Given the description of an element on the screen output the (x, y) to click on. 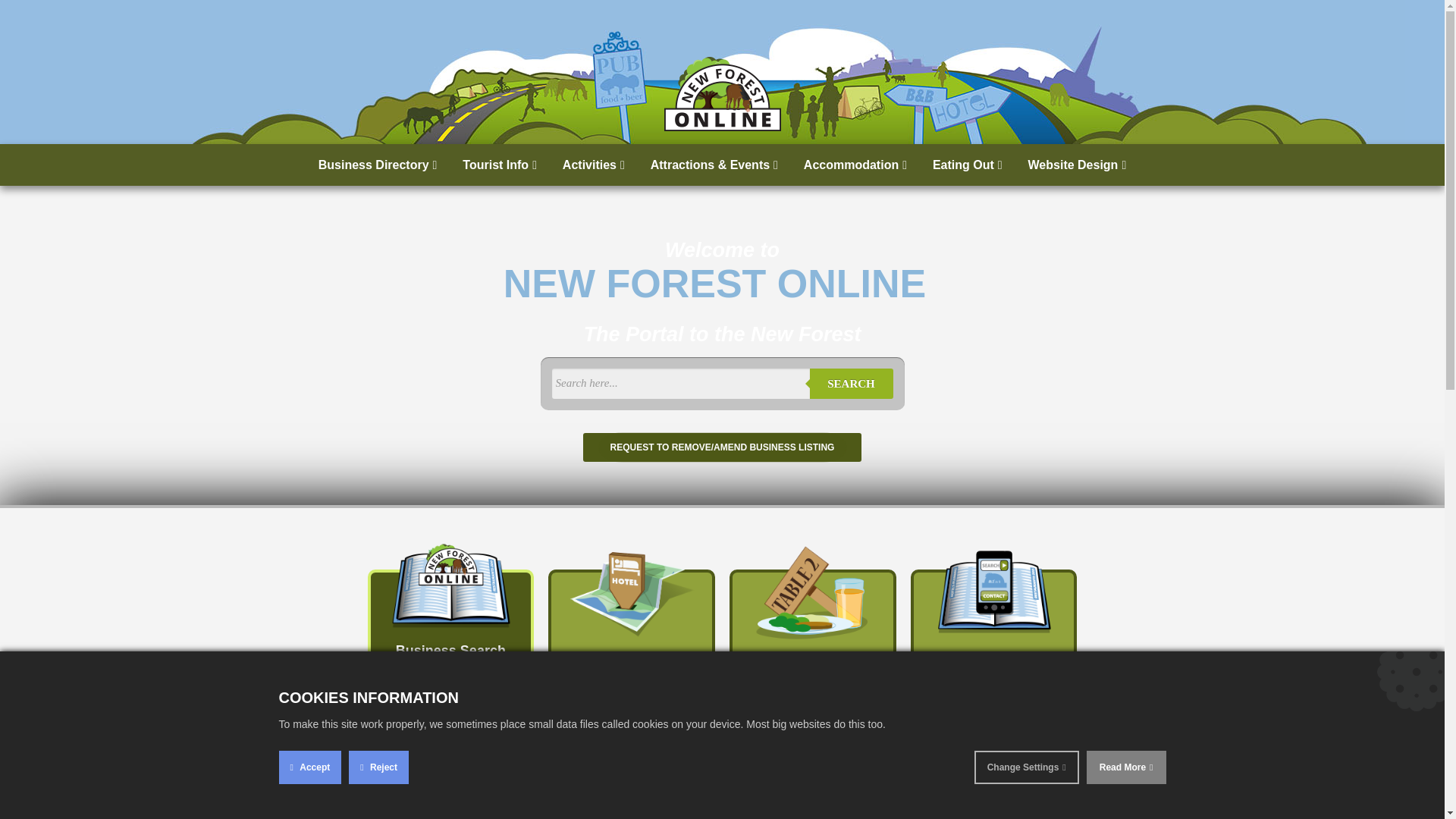
Business Directory (377, 164)
Activities (593, 164)
Tourist Info (499, 164)
